Given the description of an element on the screen output the (x, y) to click on. 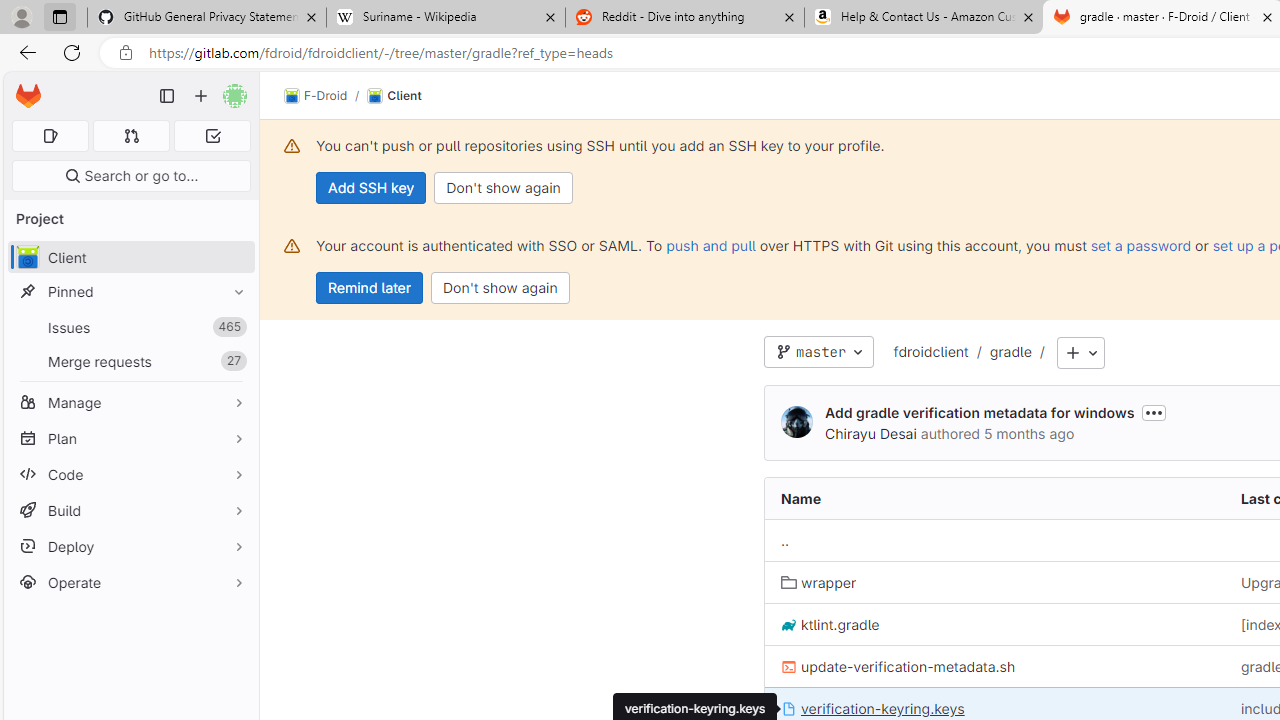
Unpin Merge requests (234, 361)
Go to parent (784, 541)
set a password (1140, 245)
F-Droid/ (326, 96)
To-Do list 0 (212, 136)
update-verification-metadata.sh (898, 666)
fdroidclient (930, 353)
Merge requests27 (130, 361)
Plan (130, 438)
Chirayu Desai's avatar (796, 422)
Chirayu Desai (870, 433)
